Given the description of an element on the screen output the (x, y) to click on. 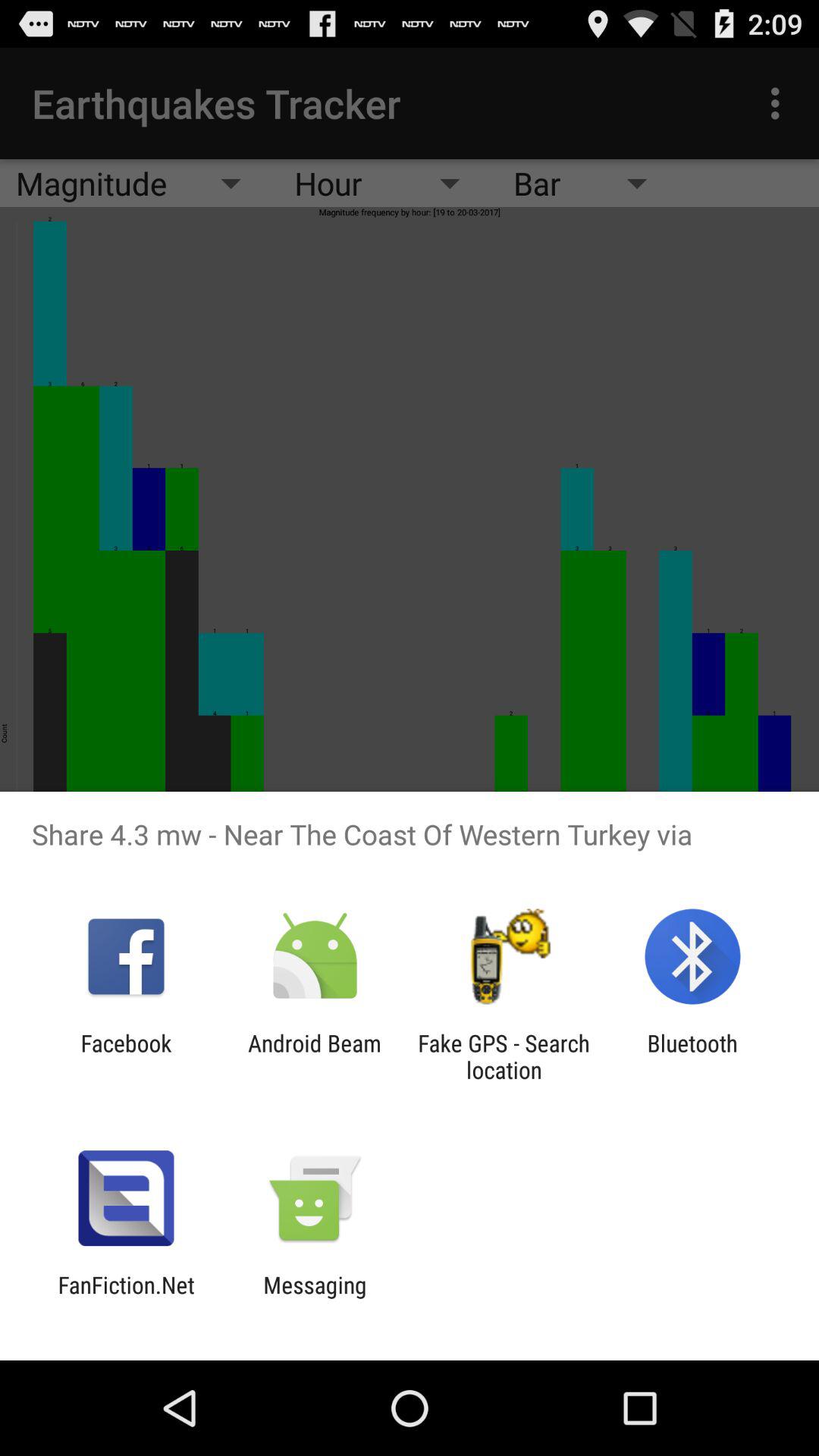
select the app next to the android beam app (125, 1056)
